Given the description of an element on the screen output the (x, y) to click on. 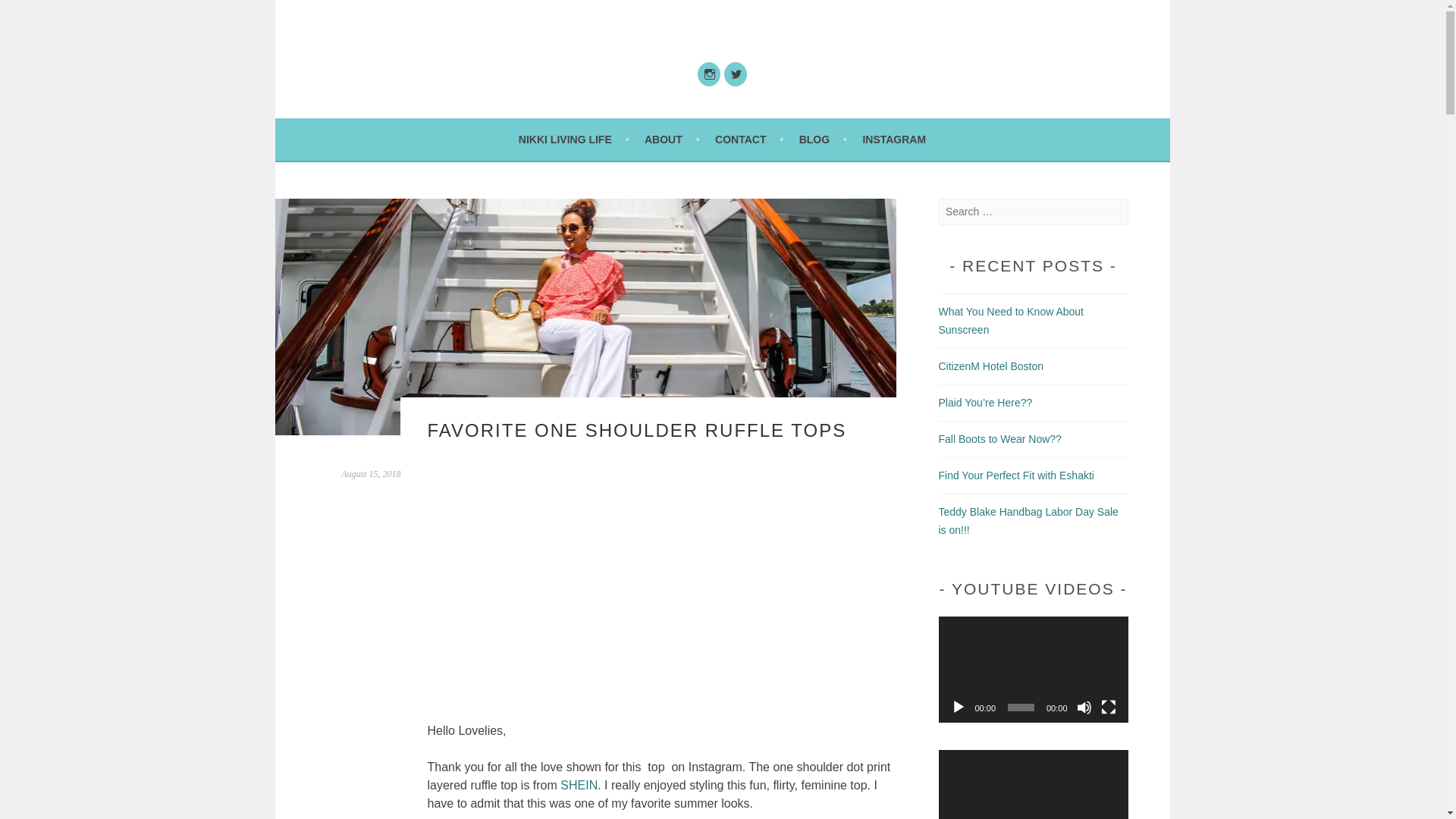
SHEIN (578, 784)
August 15, 2018 (370, 473)
ABOUT (672, 139)
Instagram (708, 74)
Permalink to Favorite One Shoulder Ruffle Tops (370, 473)
Mute (1084, 707)
Fullscreen (1108, 707)
CONTACT (748, 139)
BLOG (823, 139)
INSTAGRAM (893, 139)
NIKKI LIVING LIFE (573, 139)
Twitter (734, 74)
Play (958, 707)
